Given the description of an element on the screen output the (x, y) to click on. 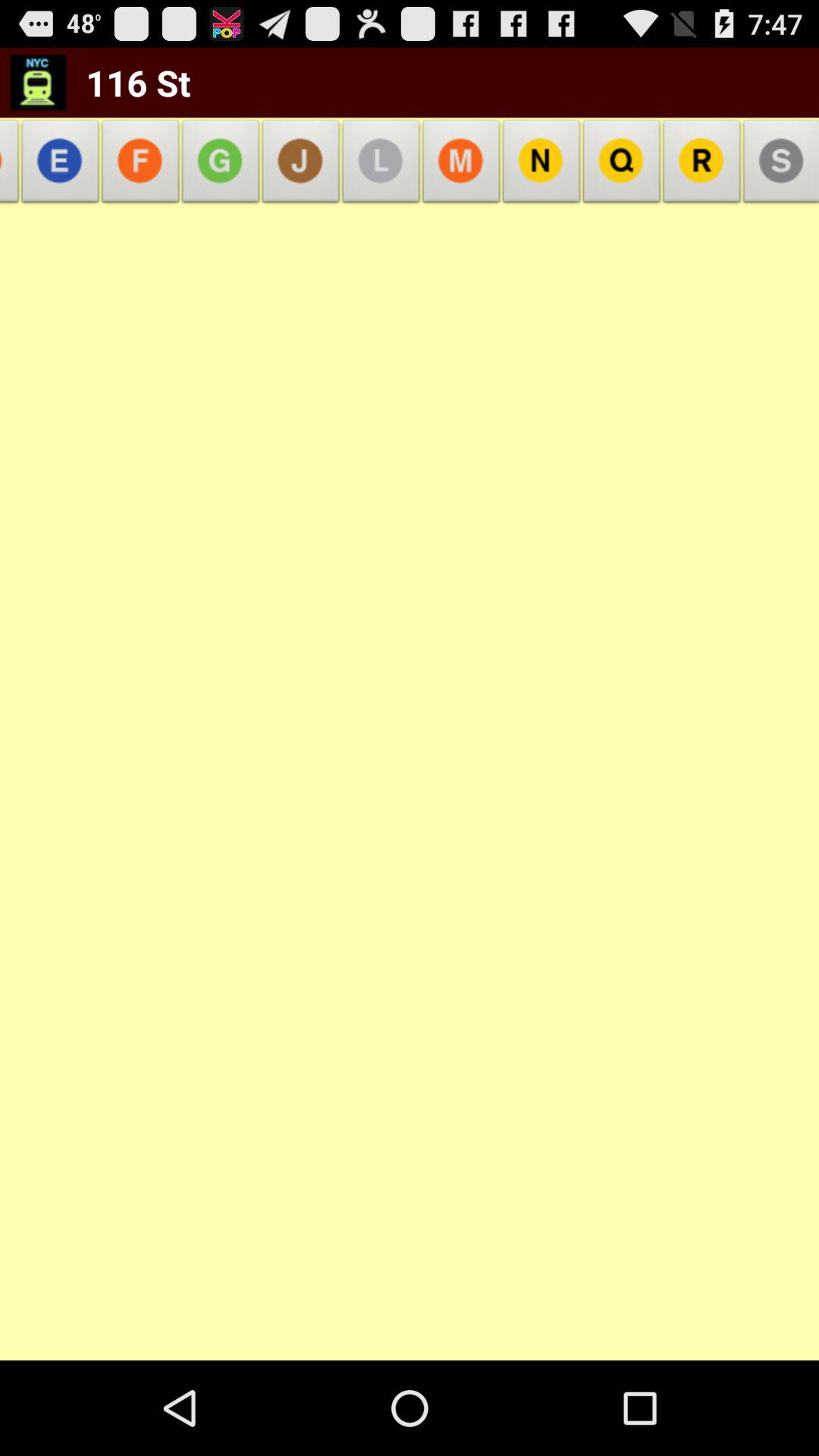
click the icon next to the 116 st app (37, 82)
